Given the description of an element on the screen output the (x, y) to click on. 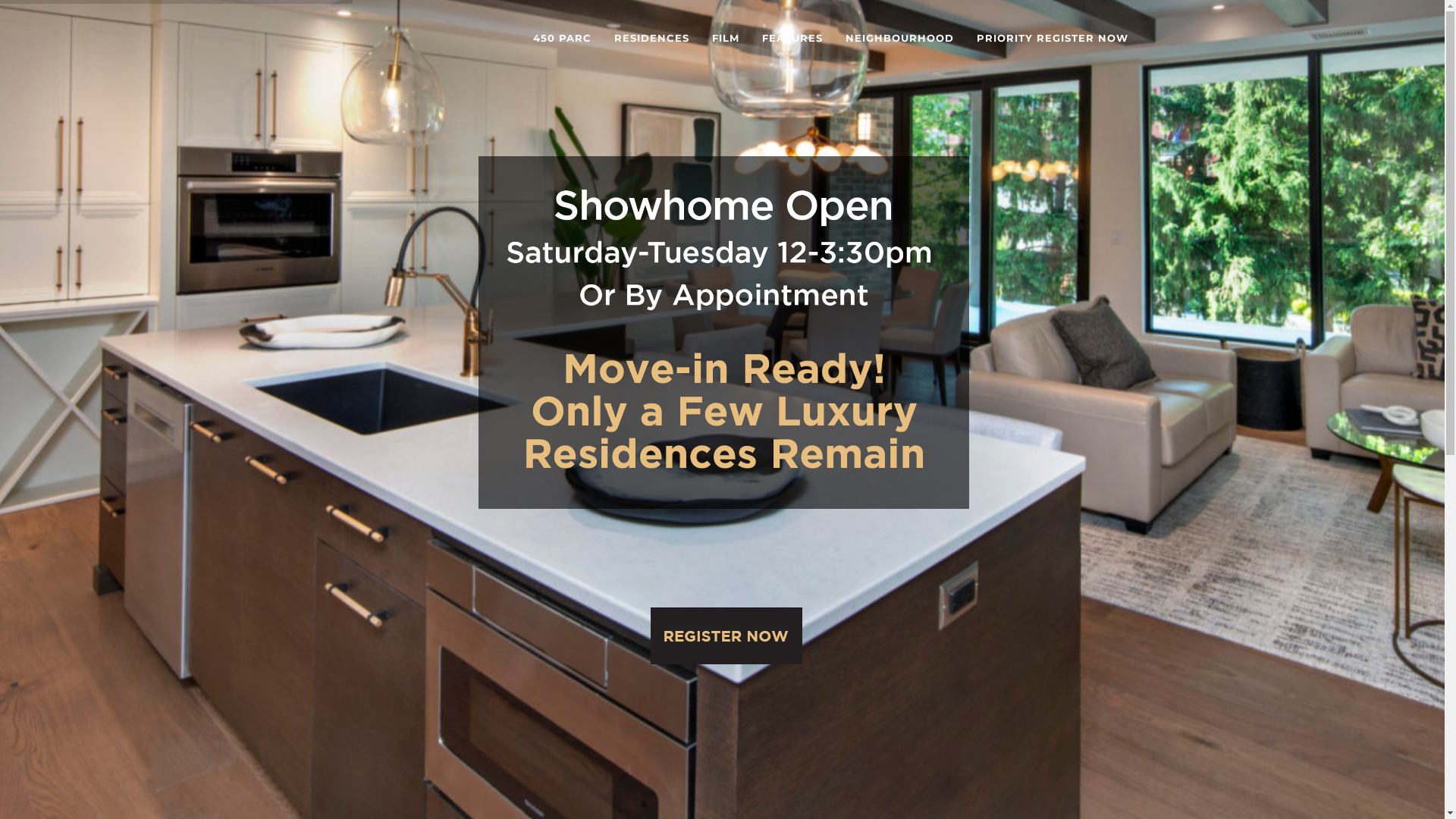
NEIGHBOURHOOD Element type: text (899, 37)
450 PARC Element type: text (561, 37)
FEATURES Element type: text (792, 37)
PRIORITY REGISTER NOW Element type: text (1051, 37)
FILM Element type: text (725, 37)
RESIDENCES Element type: text (650, 37)
